Given the description of an element on the screen output the (x, y) to click on. 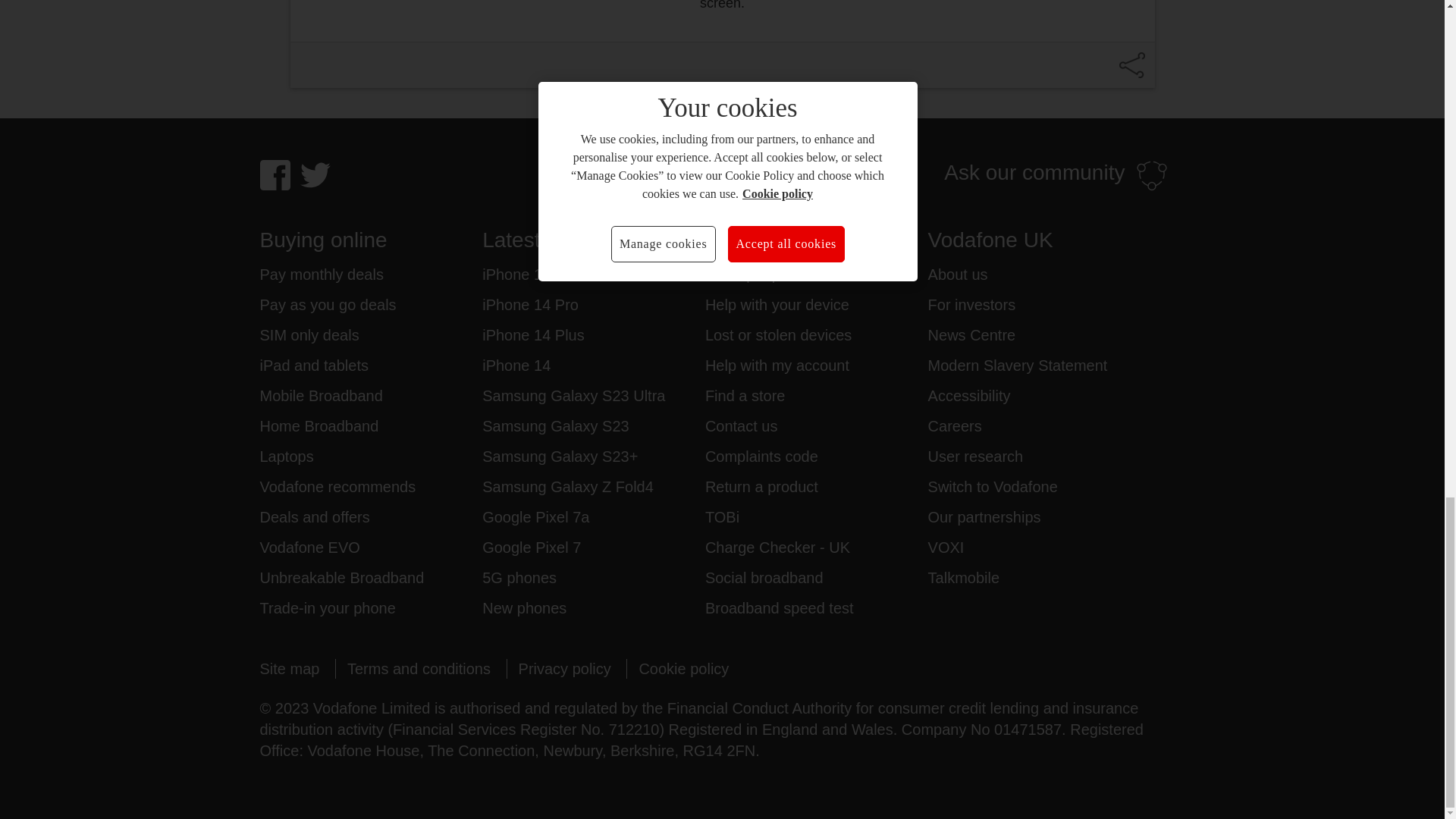
Facebook (274, 174)
Twitter (314, 174)
SIM only deals (308, 334)
Buying online (370, 240)
Unbreakable Broadband (341, 578)
Mobile Broadband (320, 395)
Pay monthly deals (320, 274)
Pay as you go deals (327, 304)
iPad and tablets (313, 365)
Laptops (286, 456)
